Given the description of an element on the screen output the (x, y) to click on. 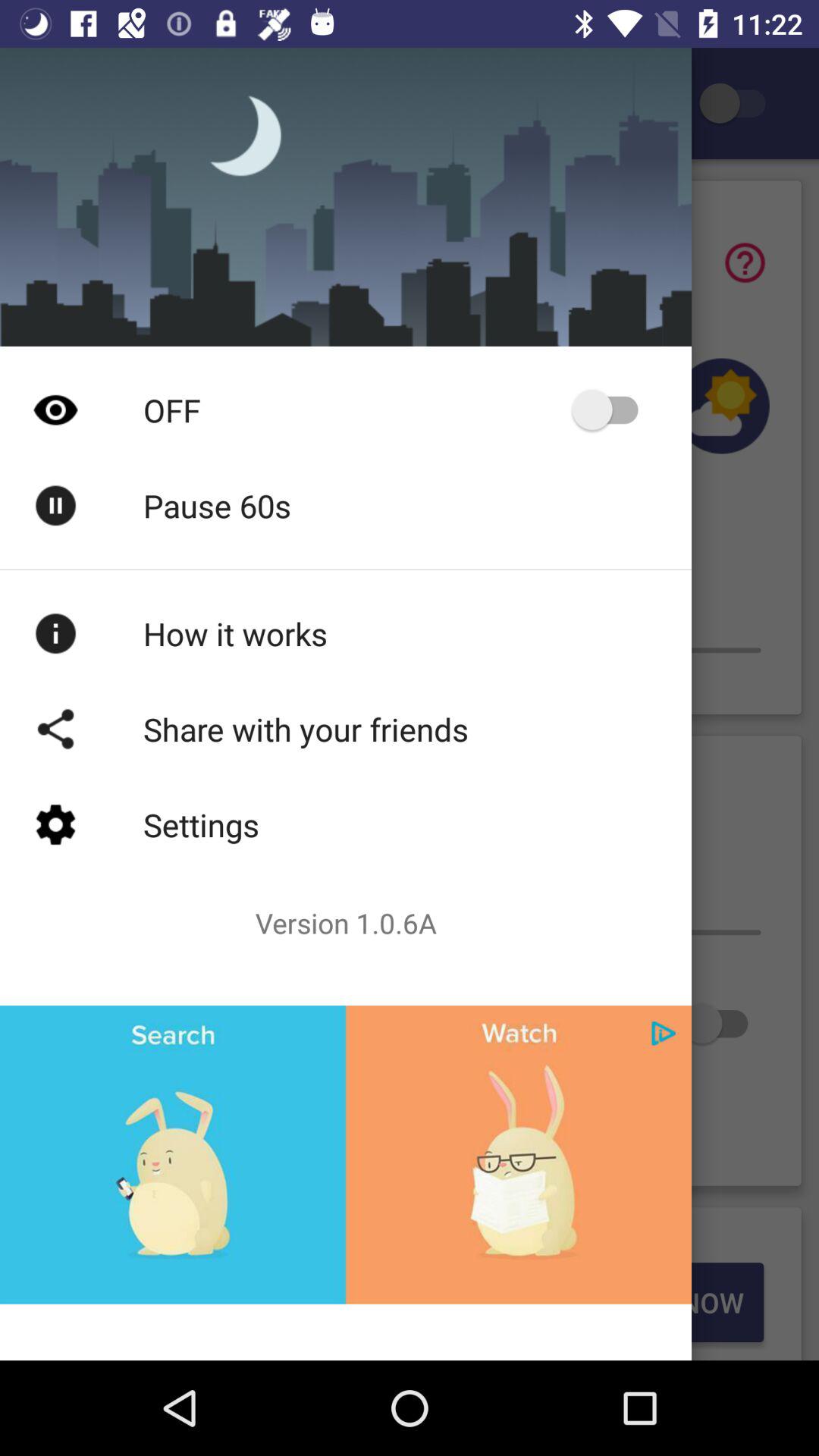
switch button (722, 1023)
